Given the description of an element on the screen output the (x, y) to click on. 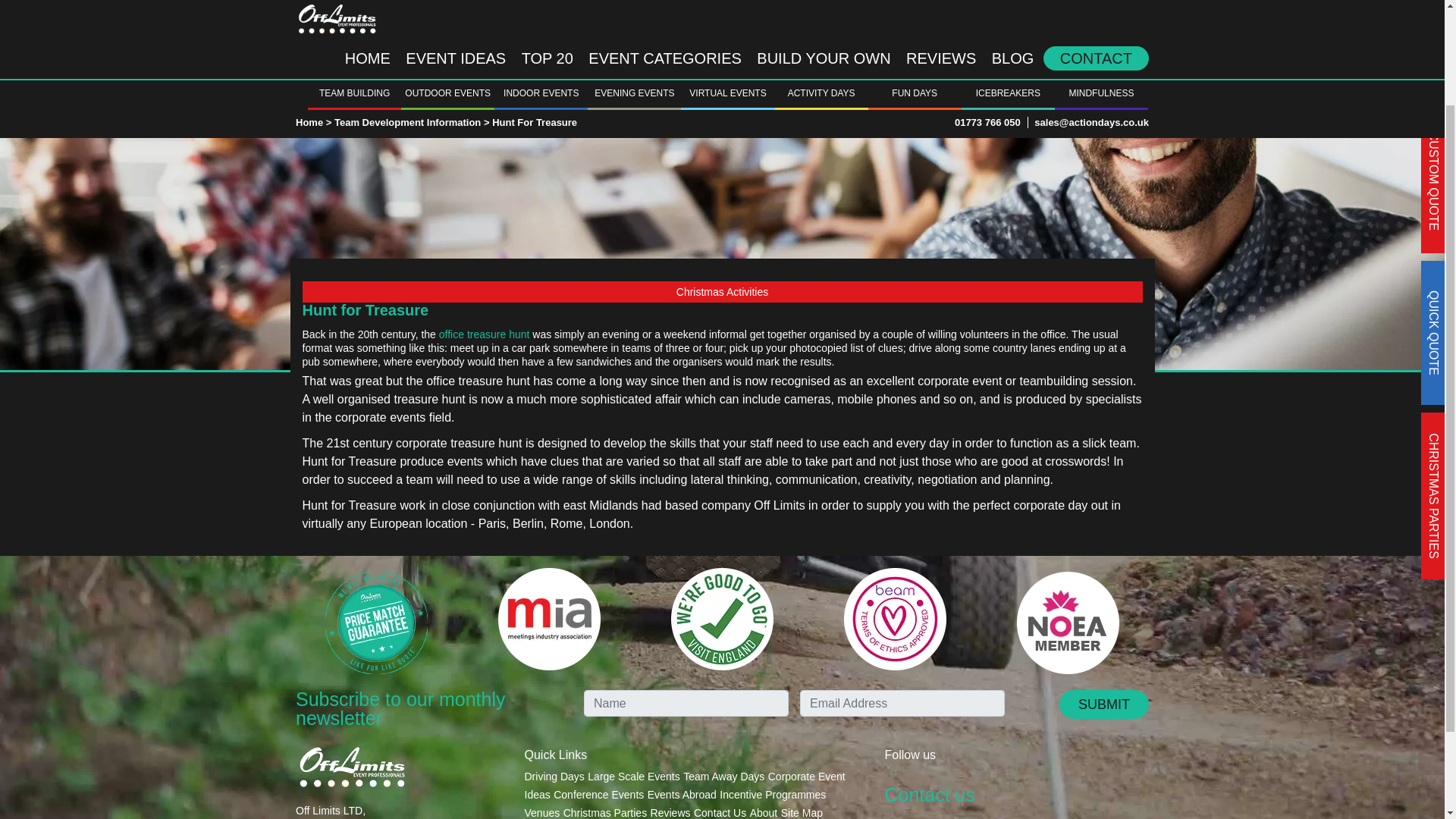
Driving Days (554, 776)
Incentive Programmes (772, 794)
SUBMIT (1103, 704)
01773 766 050 (987, 4)
Large Scale Events (633, 776)
Team Away Days (723, 776)
Corporate Event Ideas (684, 785)
Conference Events (598, 794)
office treasure hunt (484, 333)
Events Abroad (681, 794)
Hunt For Treasure (534, 4)
Christmas Activities (721, 291)
